Given the description of an element on the screen output the (x, y) to click on. 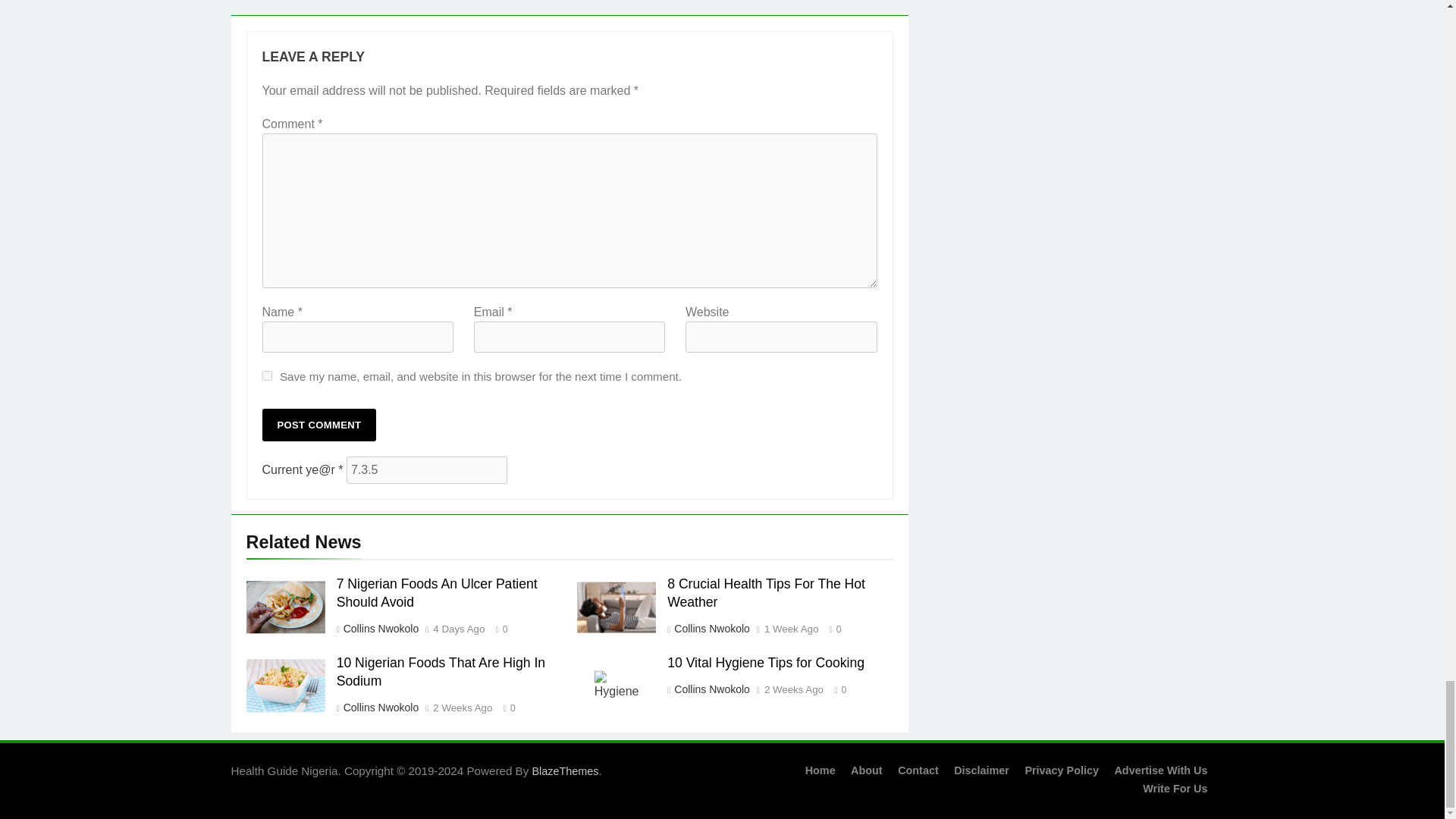
yes (267, 375)
7.3.5 (426, 470)
Post Comment (319, 424)
